Given the description of an element on the screen output the (x, y) to click on. 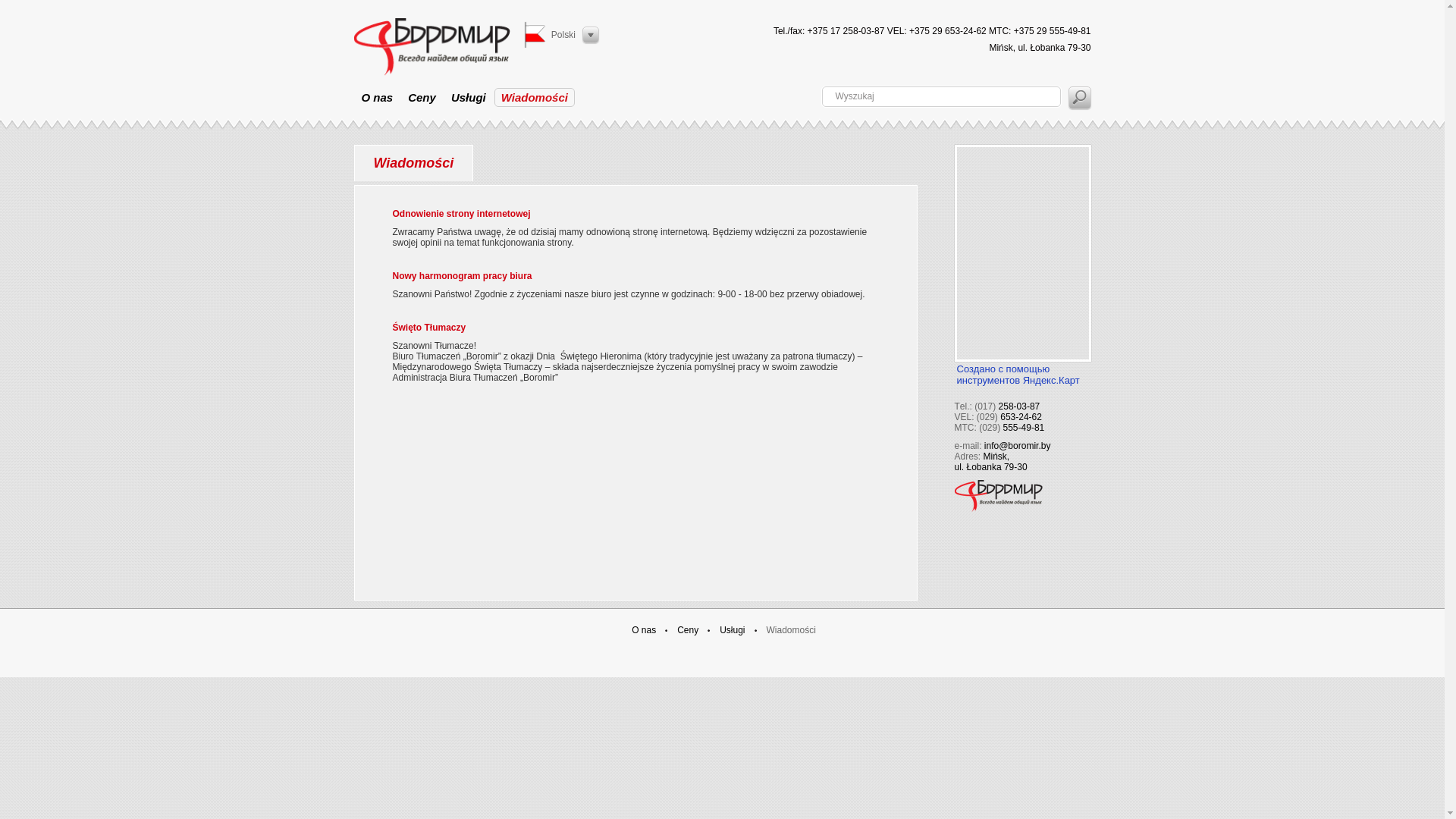
O nas Element type: text (643, 629)
Ceny Element type: text (687, 629)
Polski Element type: text (561, 34)
O nas Element type: text (376, 97)
info@boromir.by Element type: text (1017, 445)
Ceny Element type: text (421, 97)
